Given the description of an element on the screen output the (x, y) to click on. 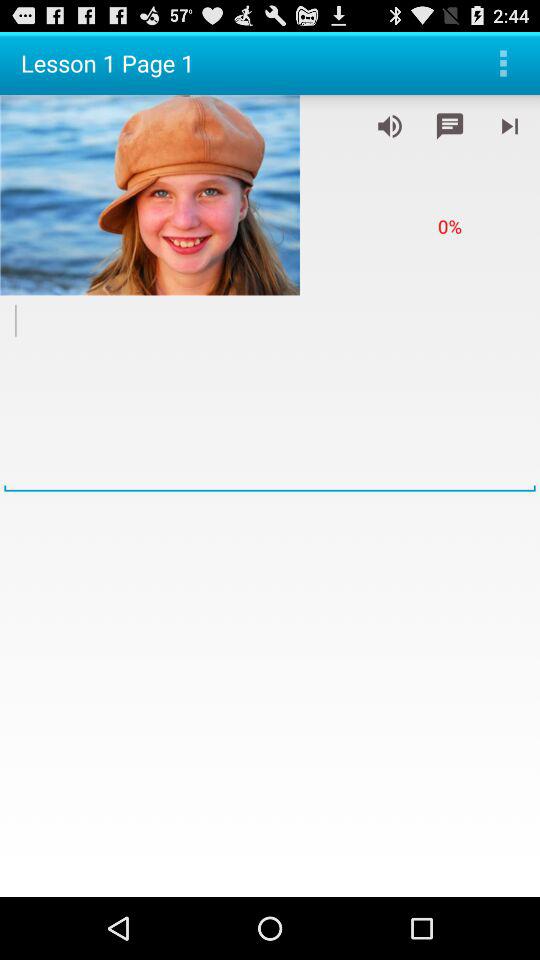
message (450, 125)
